Given the description of an element on the screen output the (x, y) to click on. 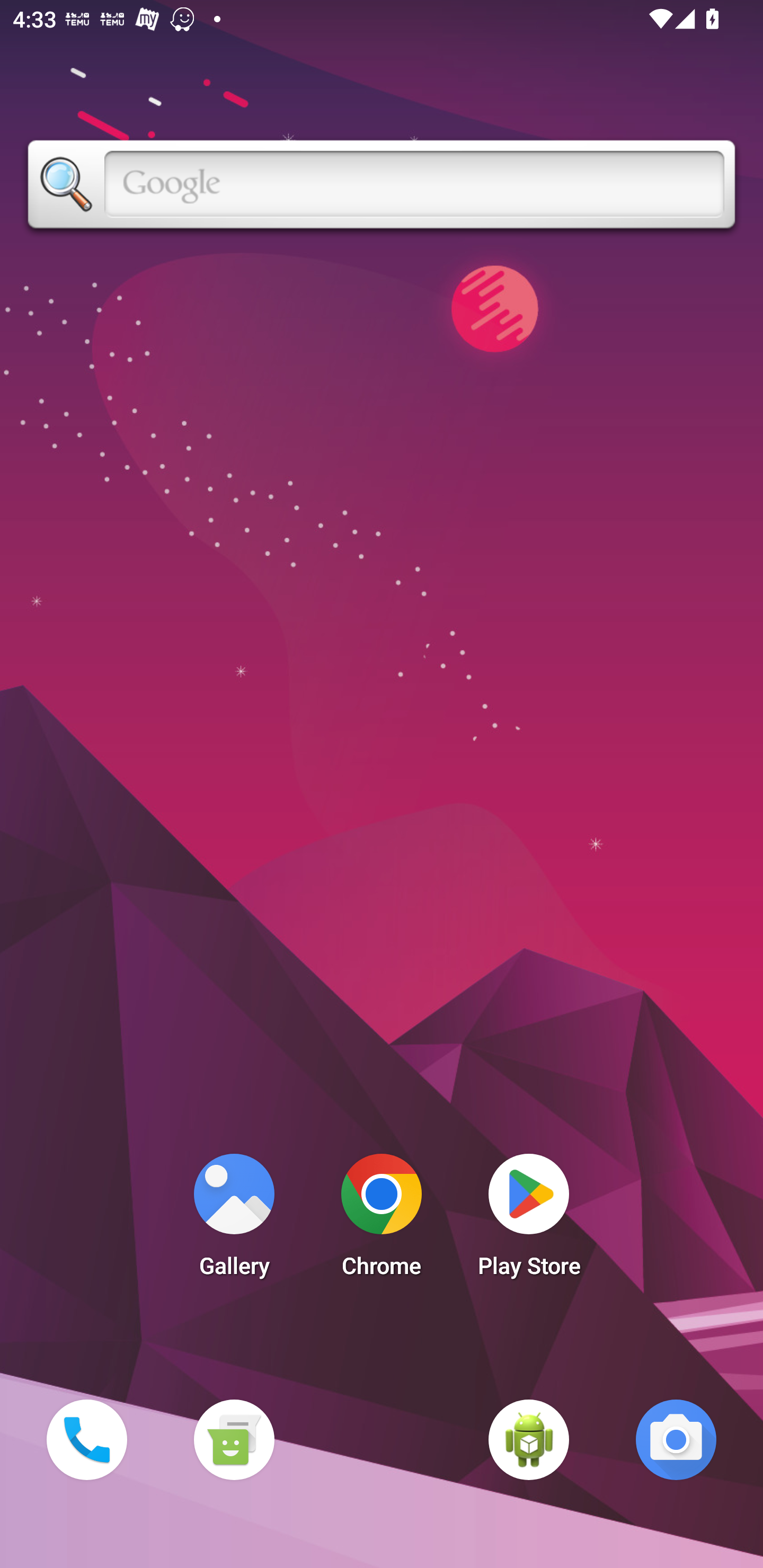
Gallery (233, 1220)
Chrome (381, 1220)
Play Store (528, 1220)
Phone (86, 1439)
Messaging (233, 1439)
WebView Browser Tester (528, 1439)
Camera (676, 1439)
